Given the description of an element on the screen output the (x, y) to click on. 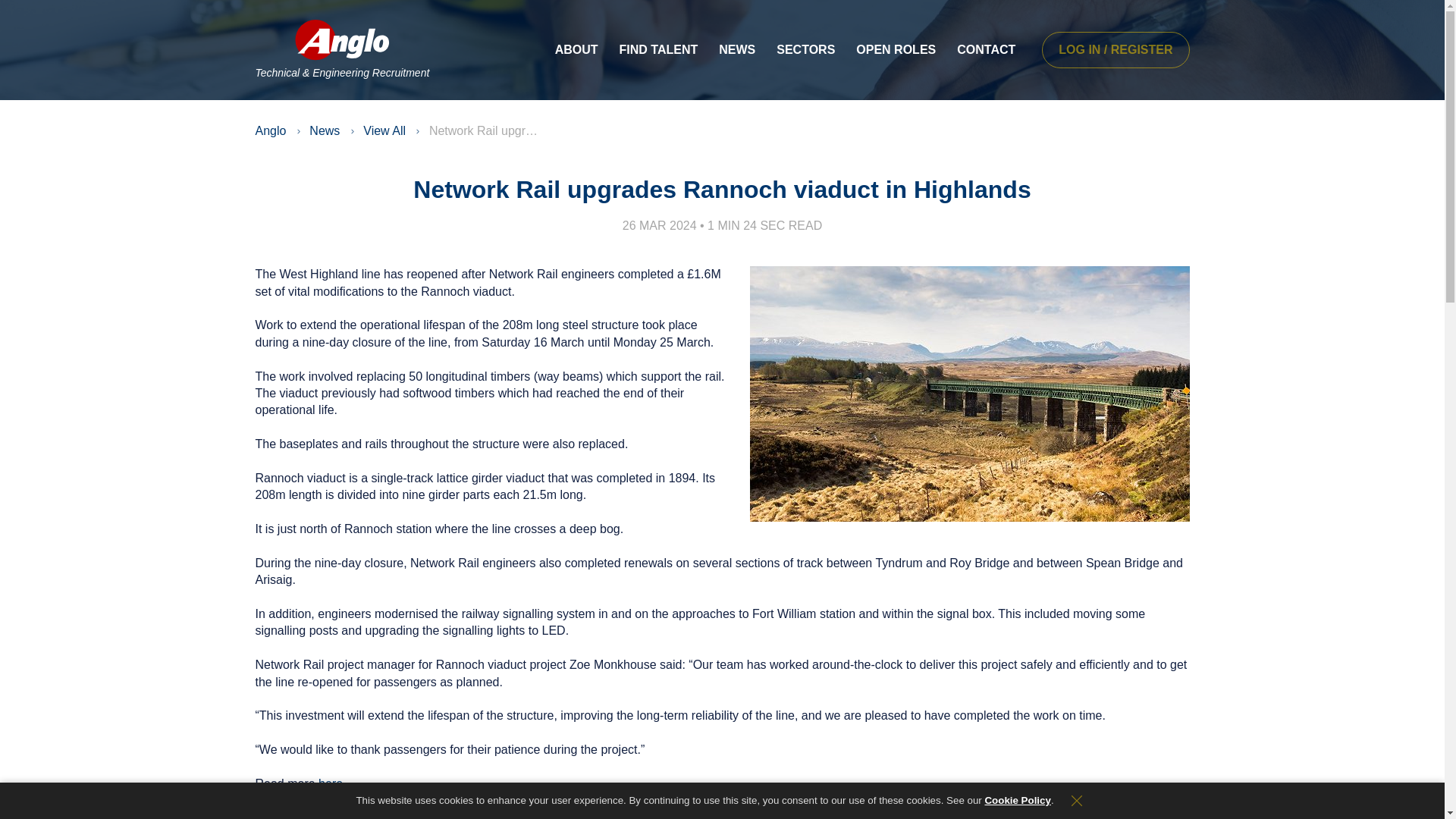
here (432, 815)
News (323, 130)
CONTACT (986, 49)
here (330, 783)
View All (384, 130)
OPEN ROLES (895, 49)
NEWS (736, 49)
SECTORS (805, 49)
Anglo (269, 130)
ABOUT (576, 49)
